Given the description of an element on the screen output the (x, y) to click on. 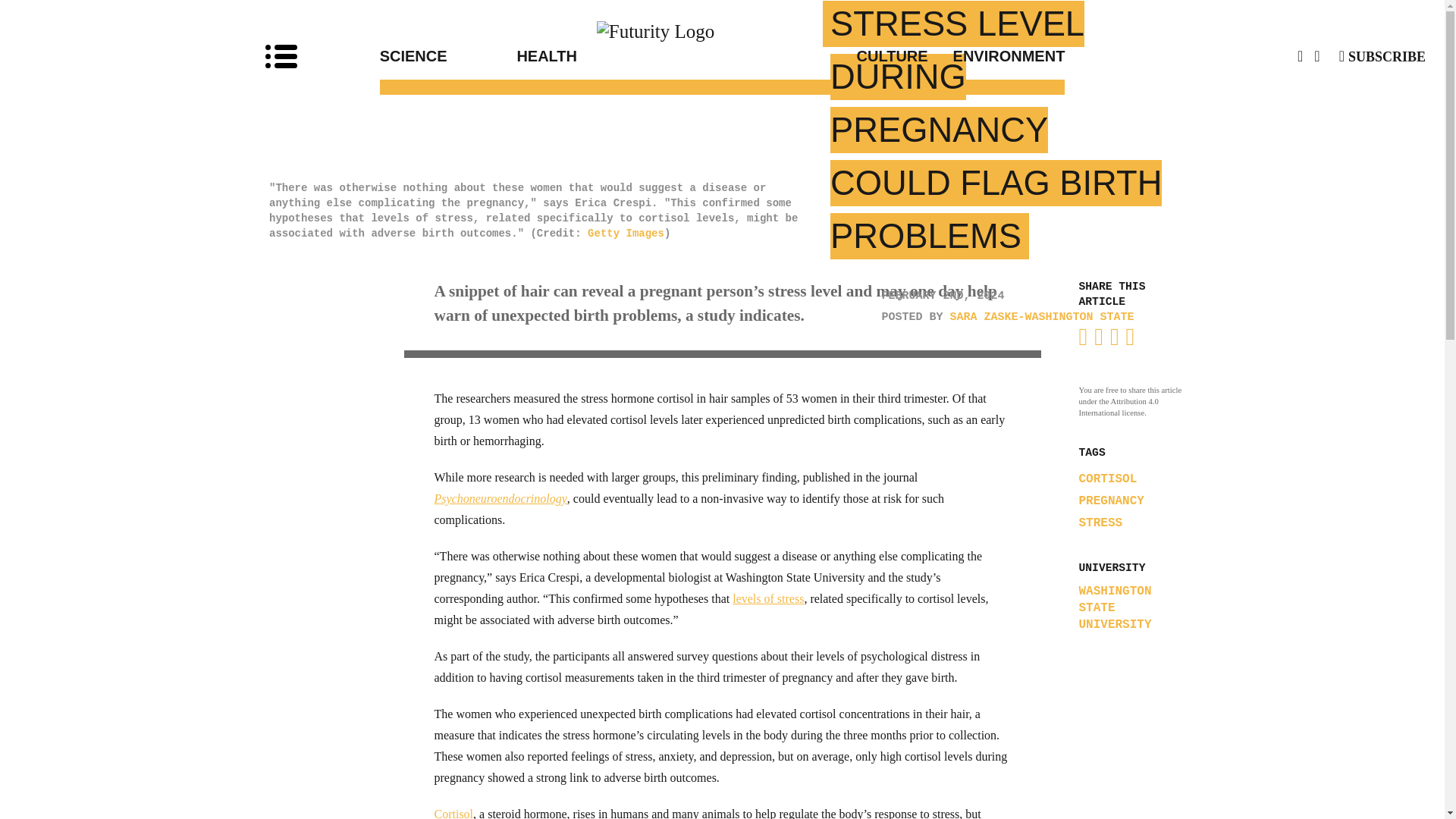
Science (448, 55)
WASHINGTON STATE UNIVERSITY (1135, 608)
CORTISOL (1107, 479)
SUBSCRIBE (1382, 56)
STRESS (1100, 522)
Health (619, 55)
SCIENCE (448, 55)
CULTURE (824, 55)
Environment (996, 55)
Research news from top universities (722, 30)
